Given the description of an element on the screen output the (x, y) to click on. 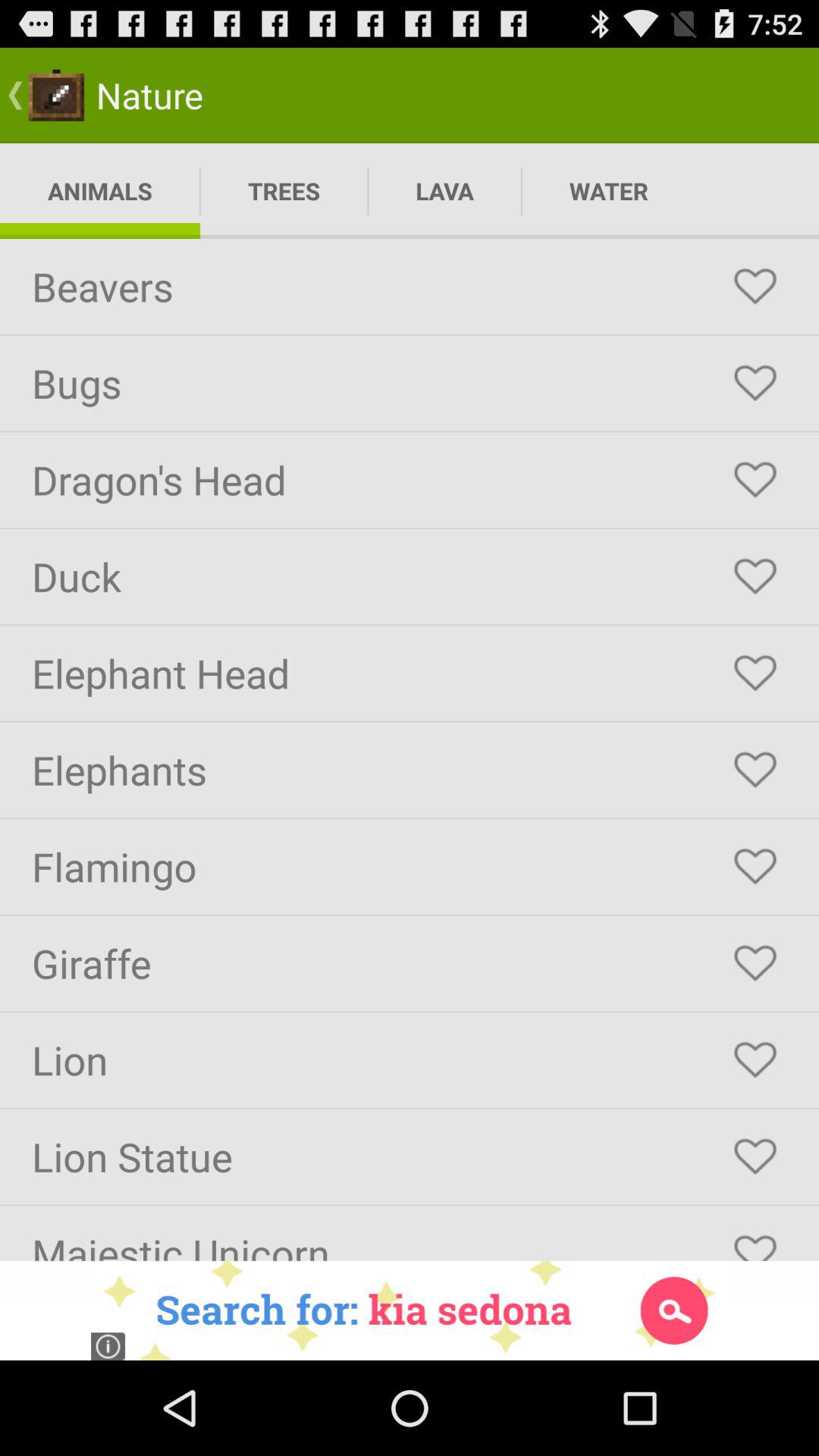
like (755, 1240)
